Given the description of an element on the screen output the (x, y) to click on. 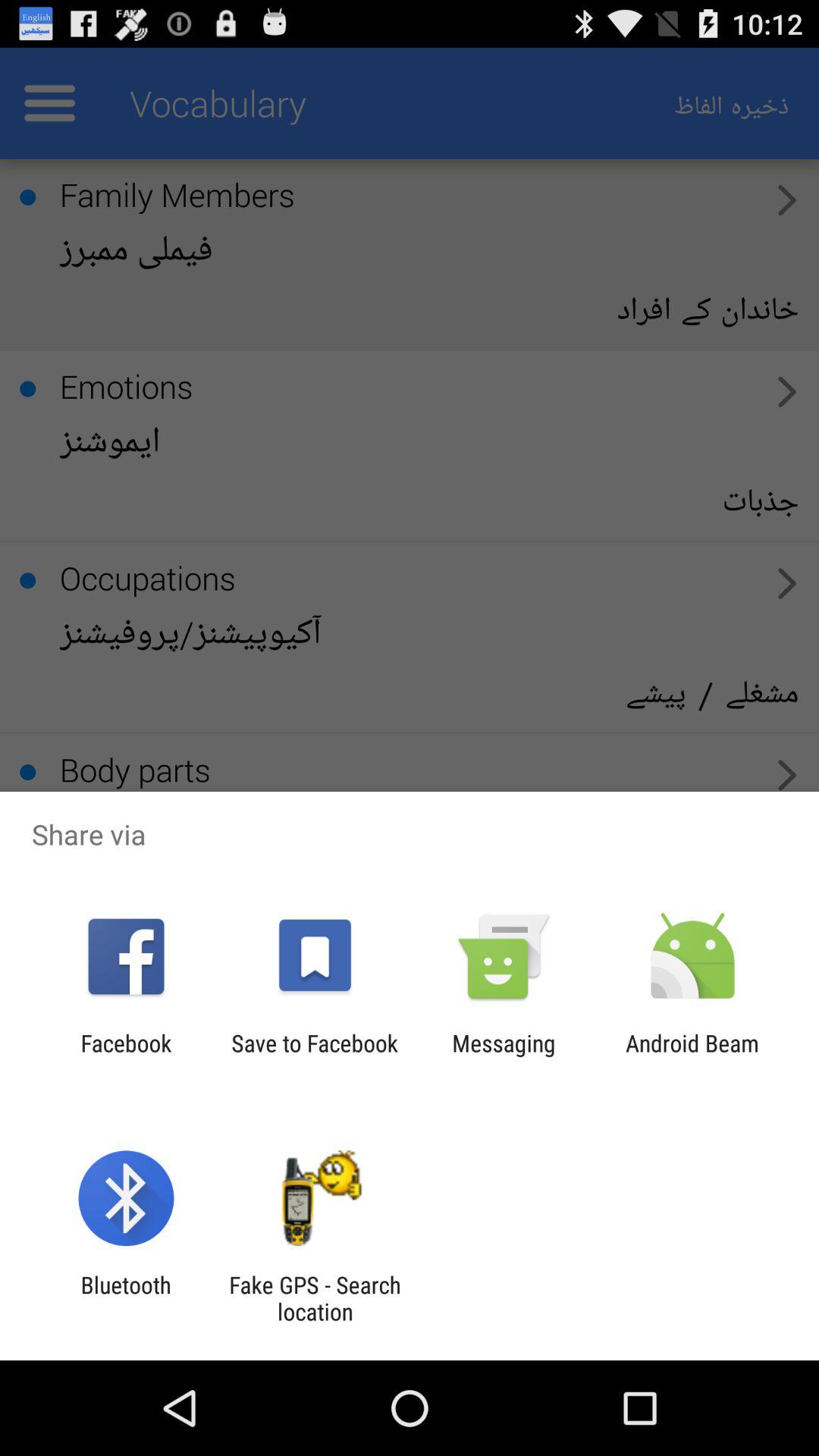
swipe until the bluetooth item (125, 1298)
